Given the description of an element on the screen output the (x, y) to click on. 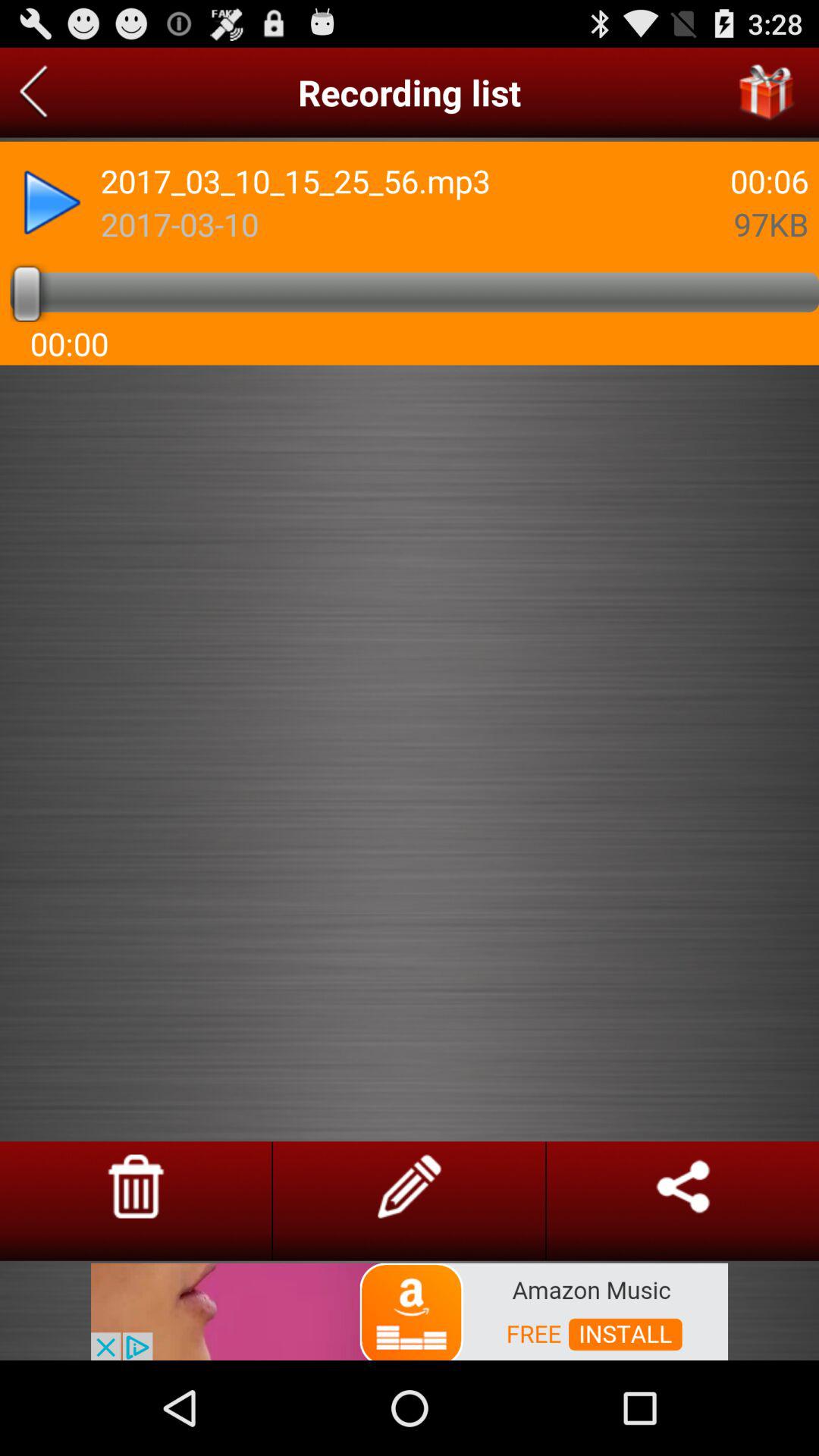
go to delete (135, 1186)
